Given the description of an element on the screen output the (x, y) to click on. 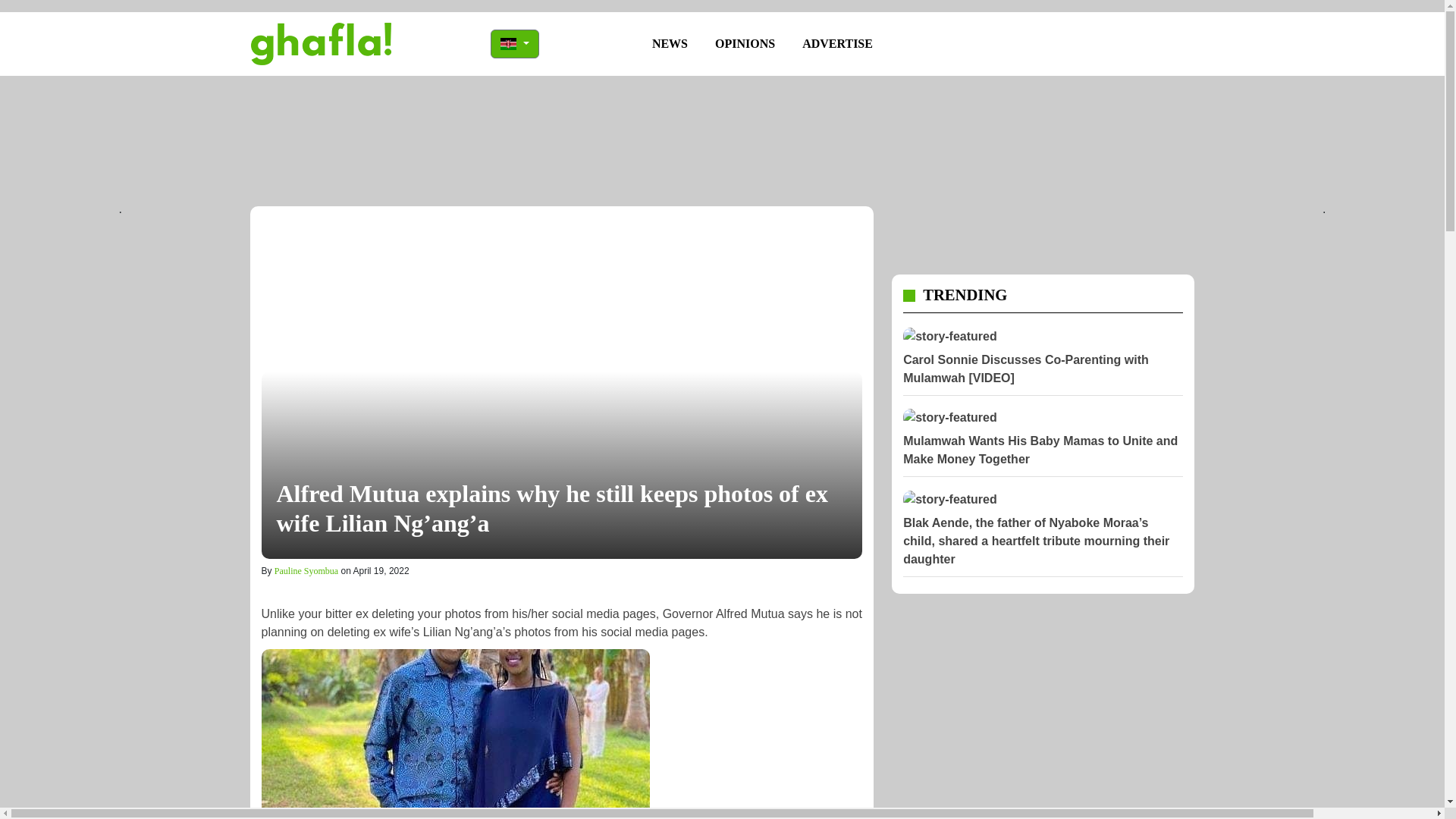
ADVERTISE (837, 43)
NEWS (670, 43)
OPINIONS (744, 43)
Pauline Syombua (306, 570)
